Given the description of an element on the screen output the (x, y) to click on. 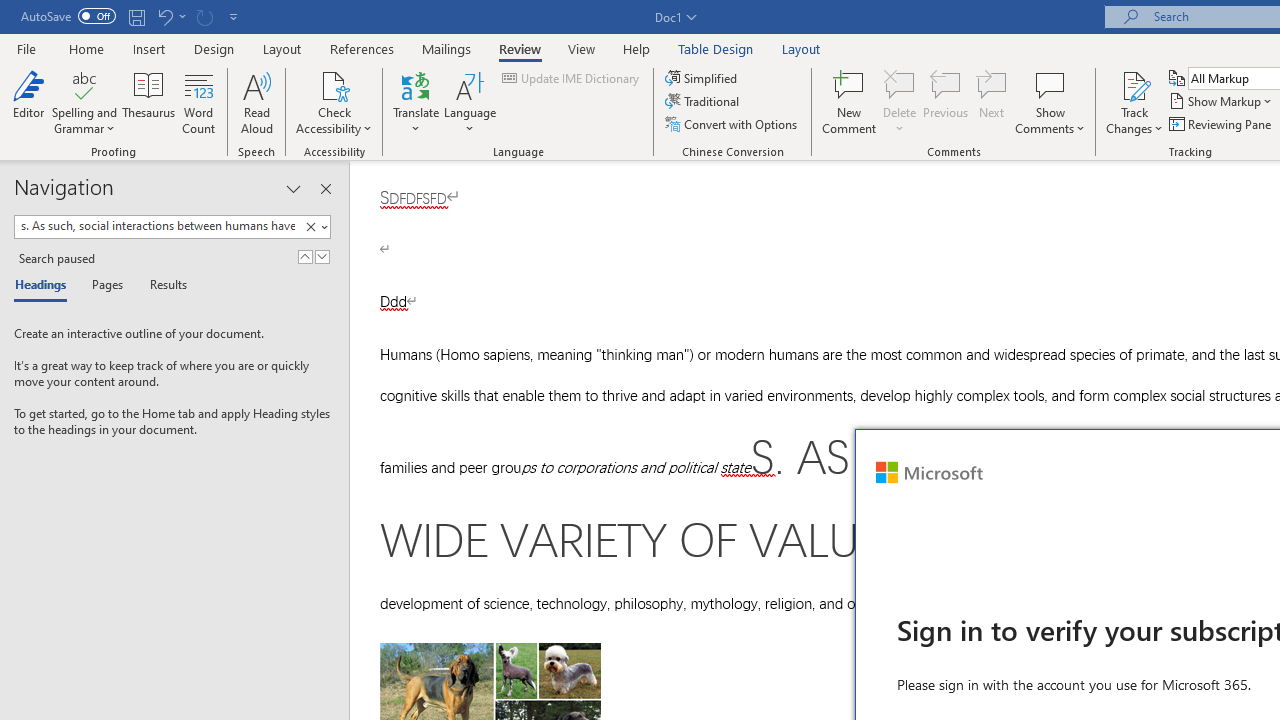
Thesaurus... (148, 102)
Next Result (322, 256)
Translate (415, 102)
Undo Style (164, 15)
Simplified (702, 78)
Read Aloud (256, 102)
Show Comments (1050, 84)
